Given the description of an element on the screen output the (x, y) to click on. 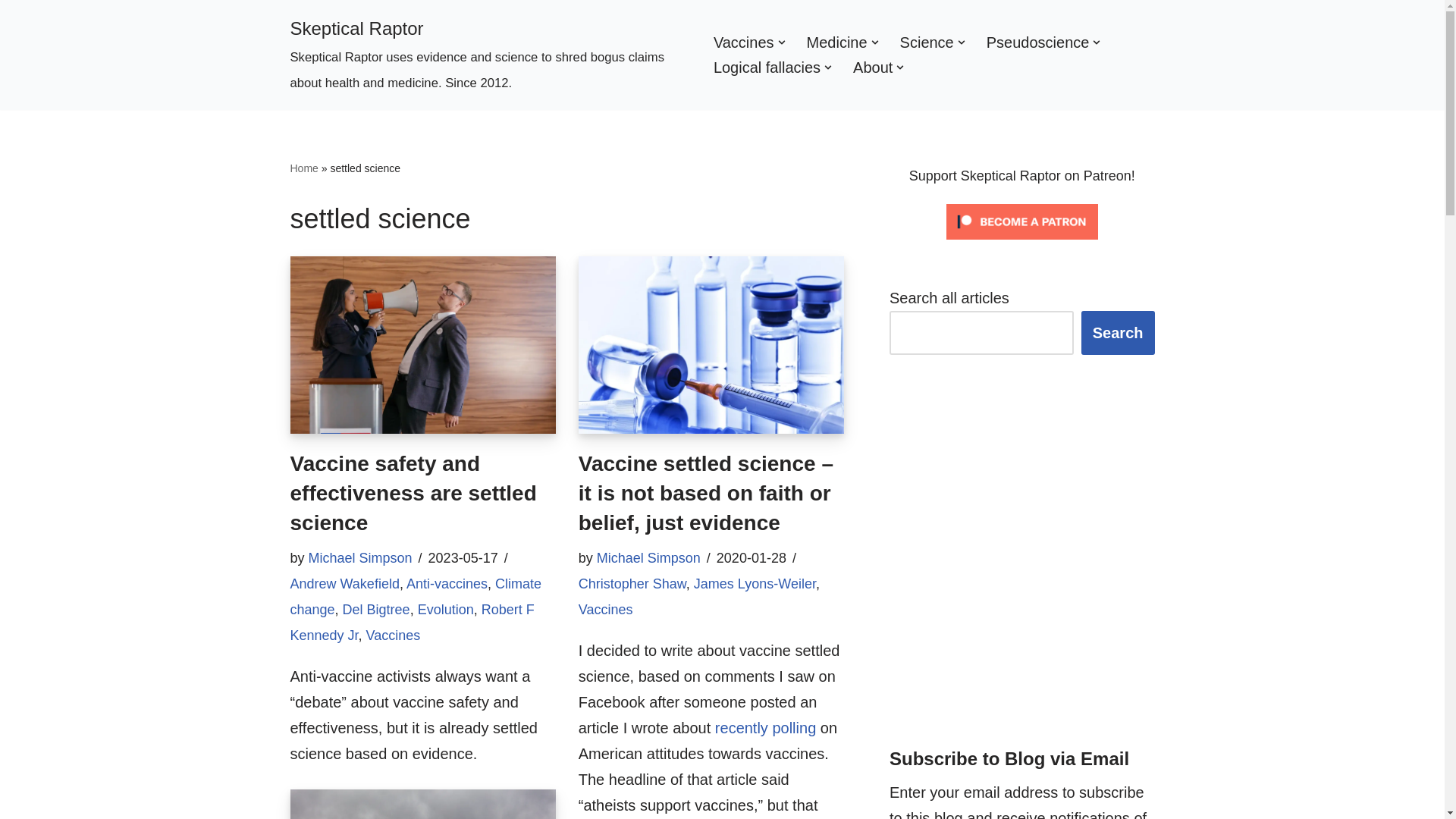
Vaccine safety and effectiveness are settled science (421, 345)
Vaccines (743, 41)
Skip to content (11, 31)
Medicine (836, 41)
Posts by Michael Simpson (648, 557)
Posts by Michael Simpson (360, 557)
